Given the description of an element on the screen output the (x, y) to click on. 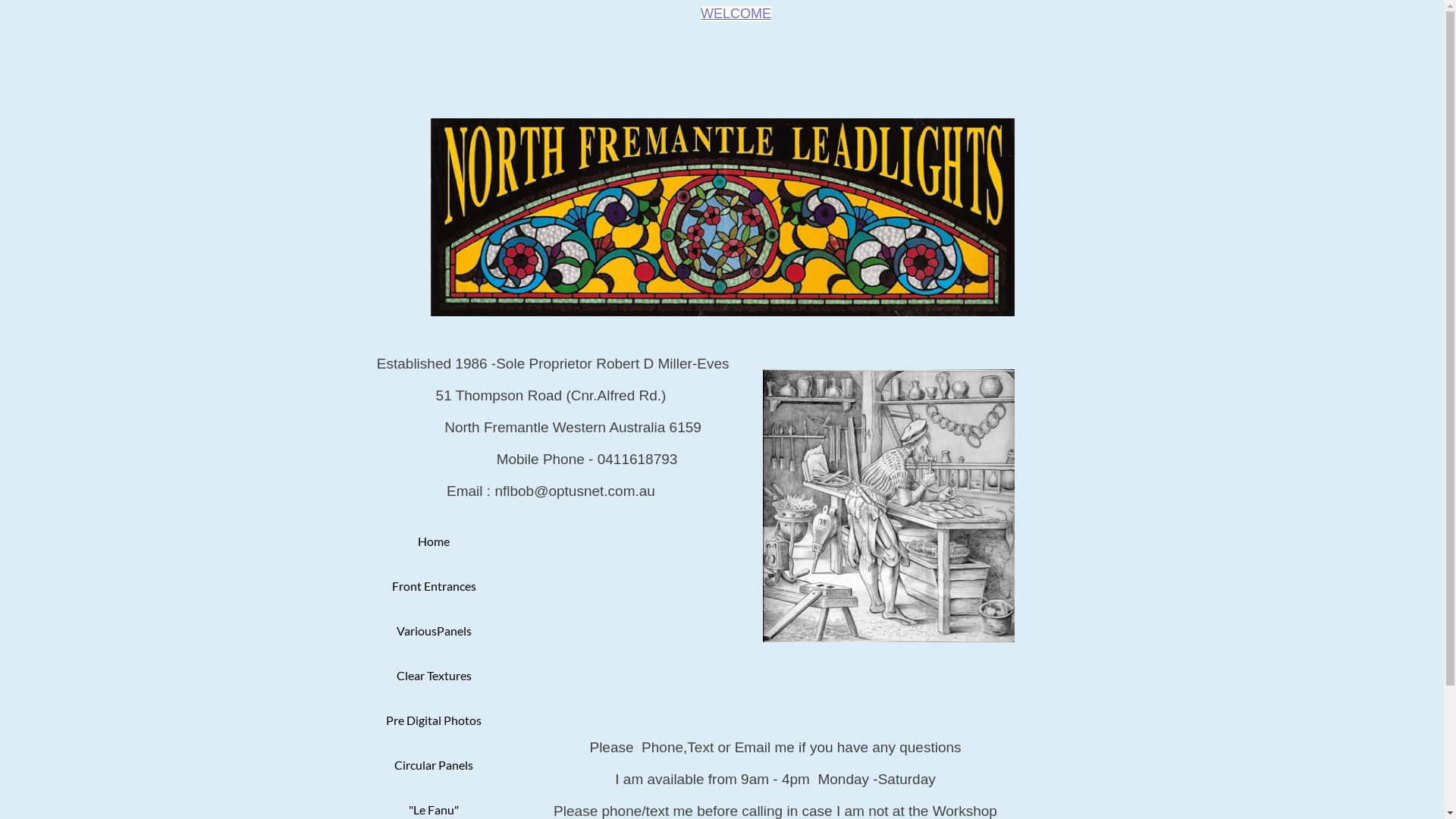
WELCOME Element type: text (735, 13)
